Given the description of an element on the screen output the (x, y) to click on. 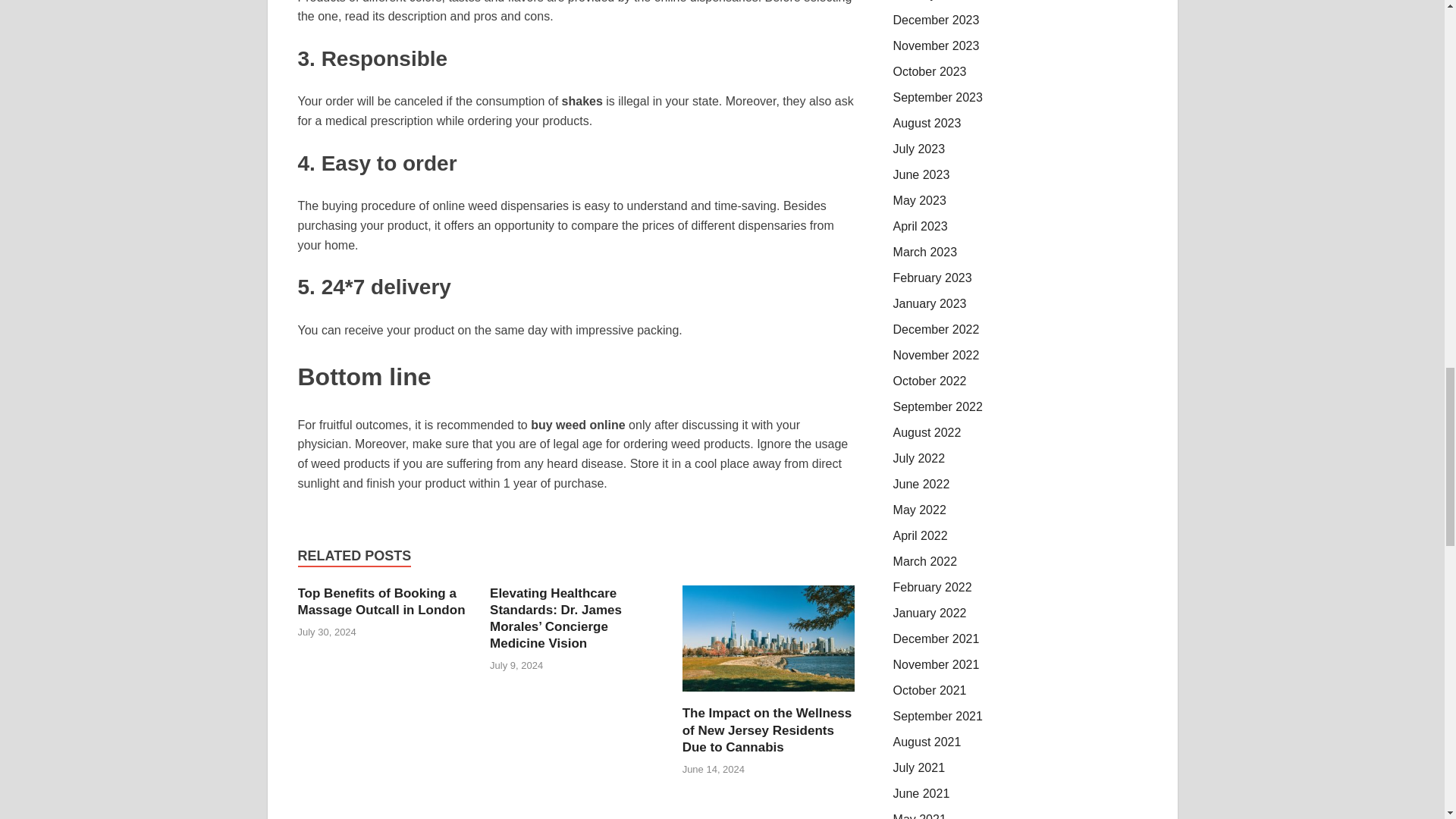
Top Benefits of Booking a Massage Outcall in London (380, 600)
Top Benefits of Booking a Massage Outcall in London (380, 600)
